Given the description of an element on the screen output the (x, y) to click on. 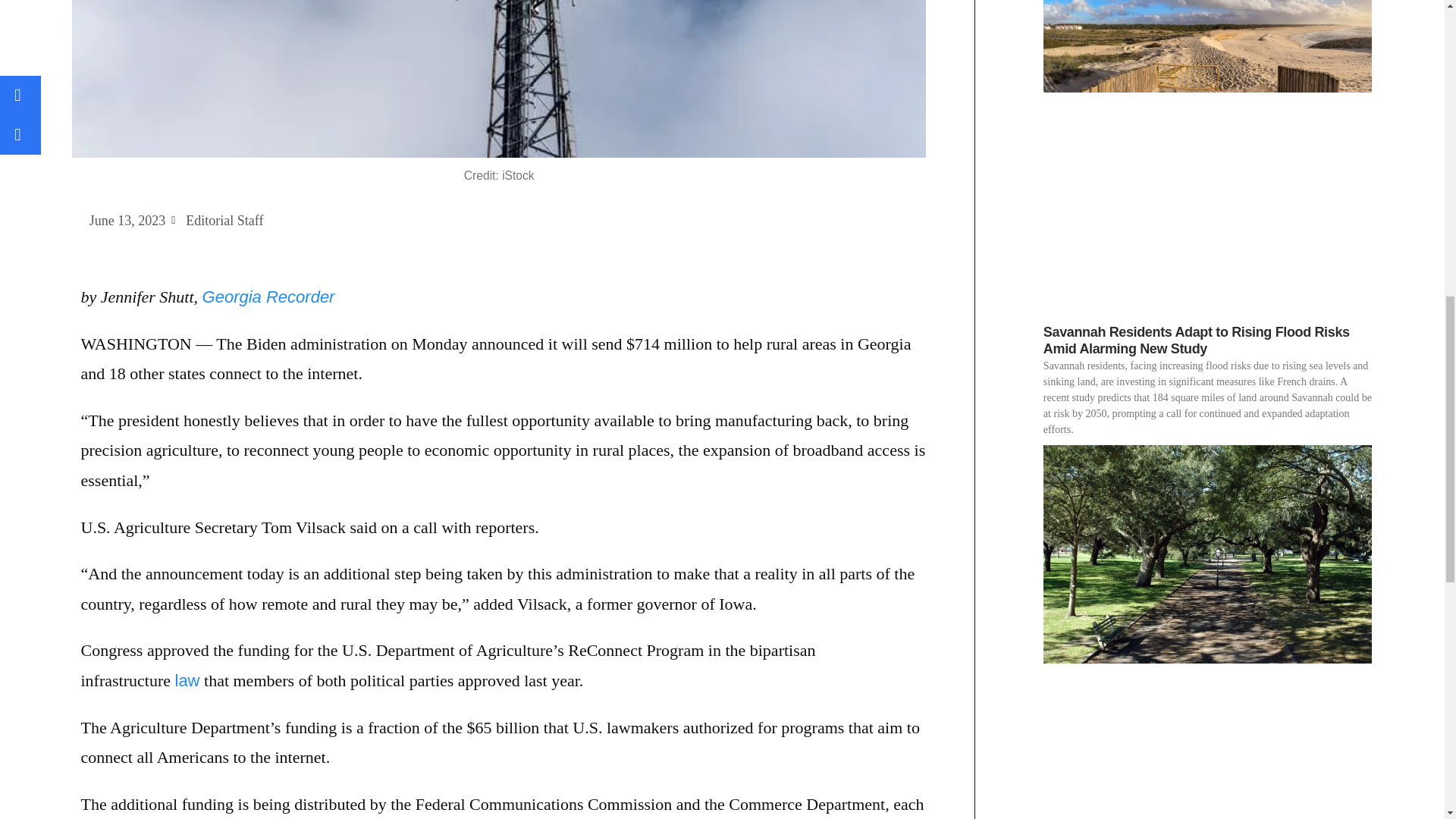
Georgia Recorder (268, 296)
law (186, 680)
